Given the description of an element on the screen output the (x, y) to click on. 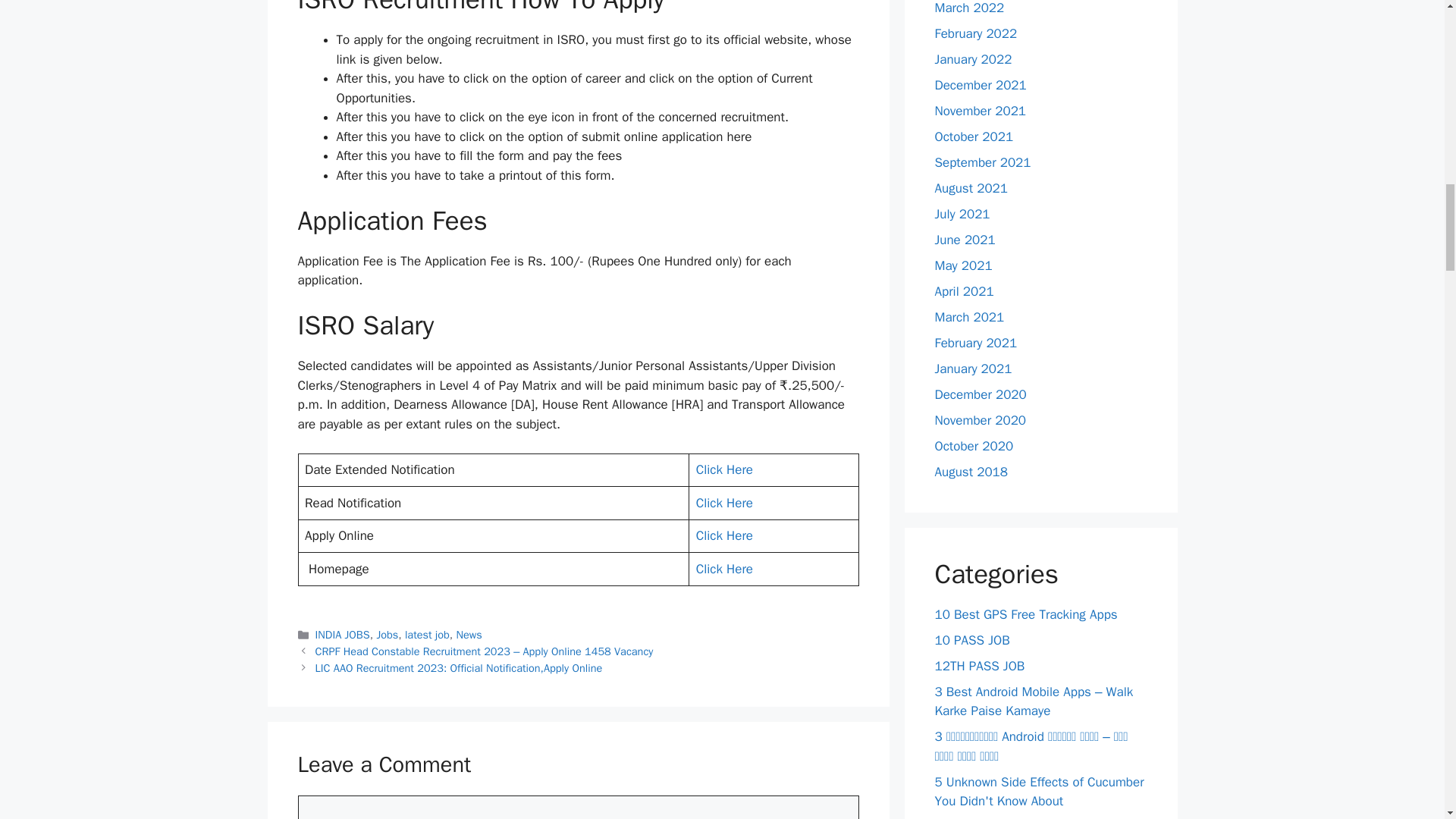
News (468, 634)
Click Here (723, 569)
LIC AAO Recruitment 2023: Official Notification,Apply Online (458, 667)
INDIA JOBS (342, 634)
latest job (426, 634)
Jobs (386, 634)
Click Here (723, 469)
Click Here (723, 535)
Click Here (723, 503)
